Given the description of an element on the screen output the (x, y) to click on. 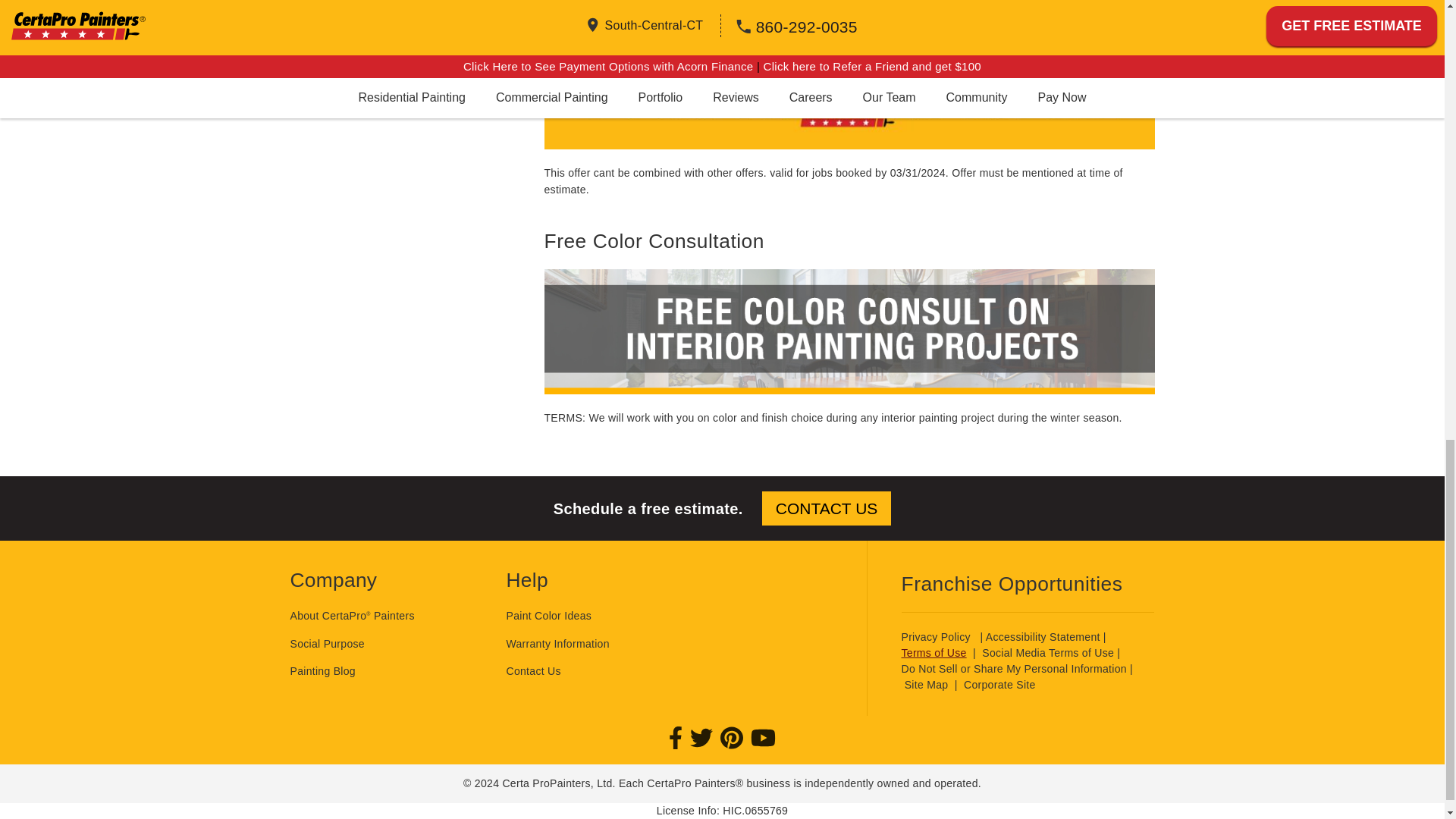
CONTACT US (826, 508)
